Given the description of an element on the screen output the (x, y) to click on. 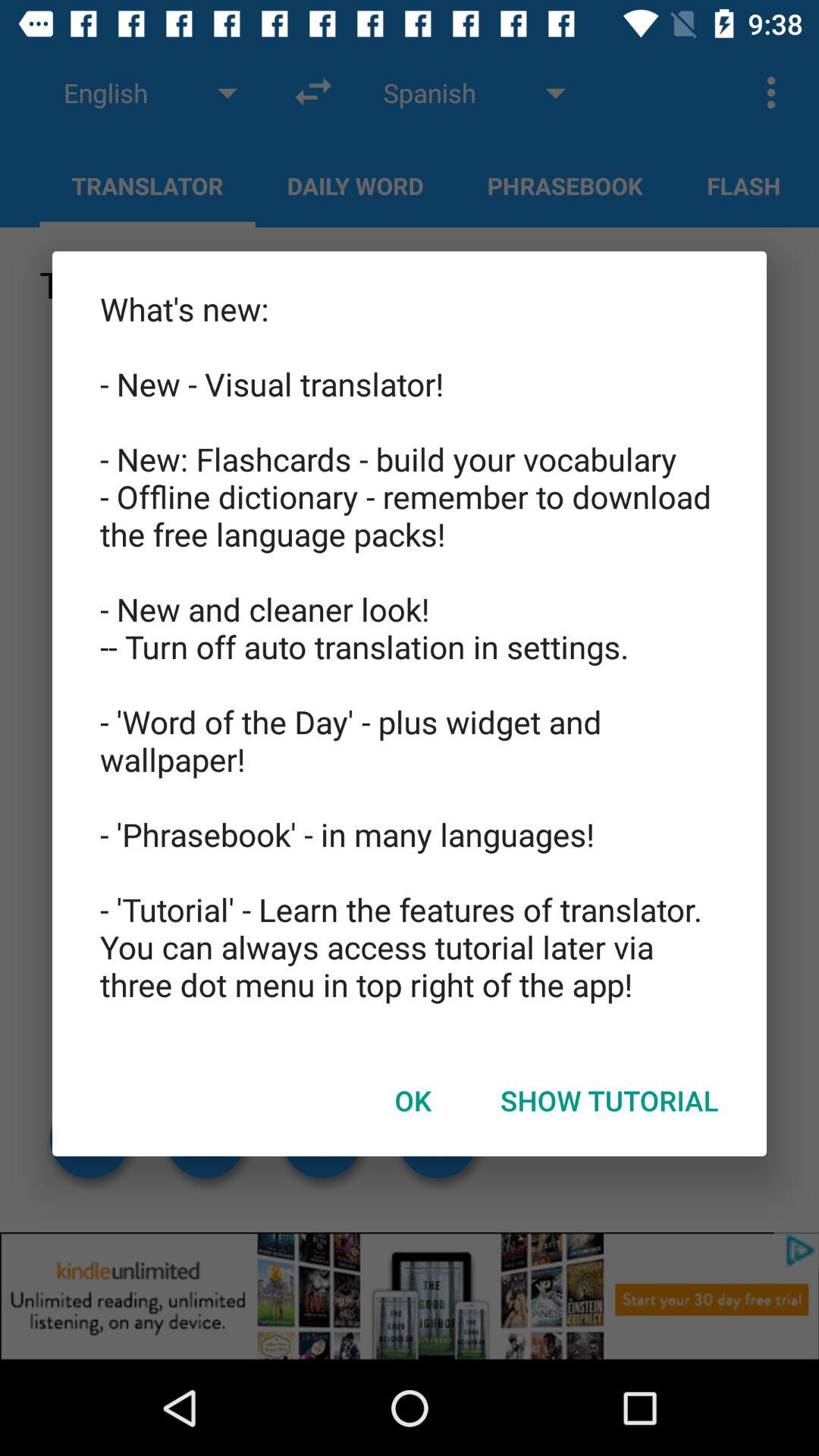
turn off the icon to the left of show tutorial item (412, 1100)
